Given the description of an element on the screen output the (x, y) to click on. 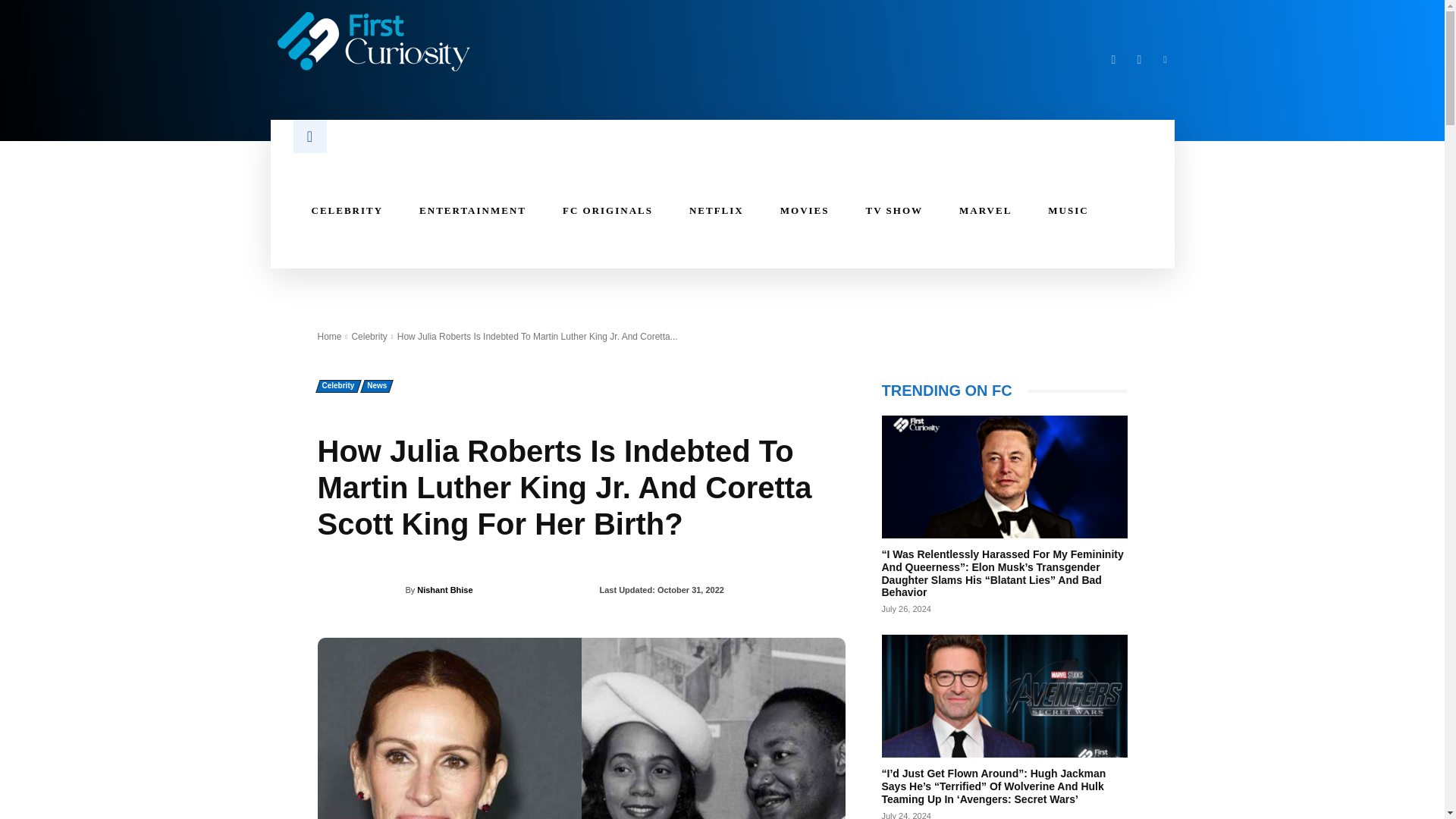
Twitter (1138, 59)
Linkedin (1164, 59)
CELEBRITY (346, 210)
Facebook (1112, 59)
